Given the description of an element on the screen output the (x, y) to click on. 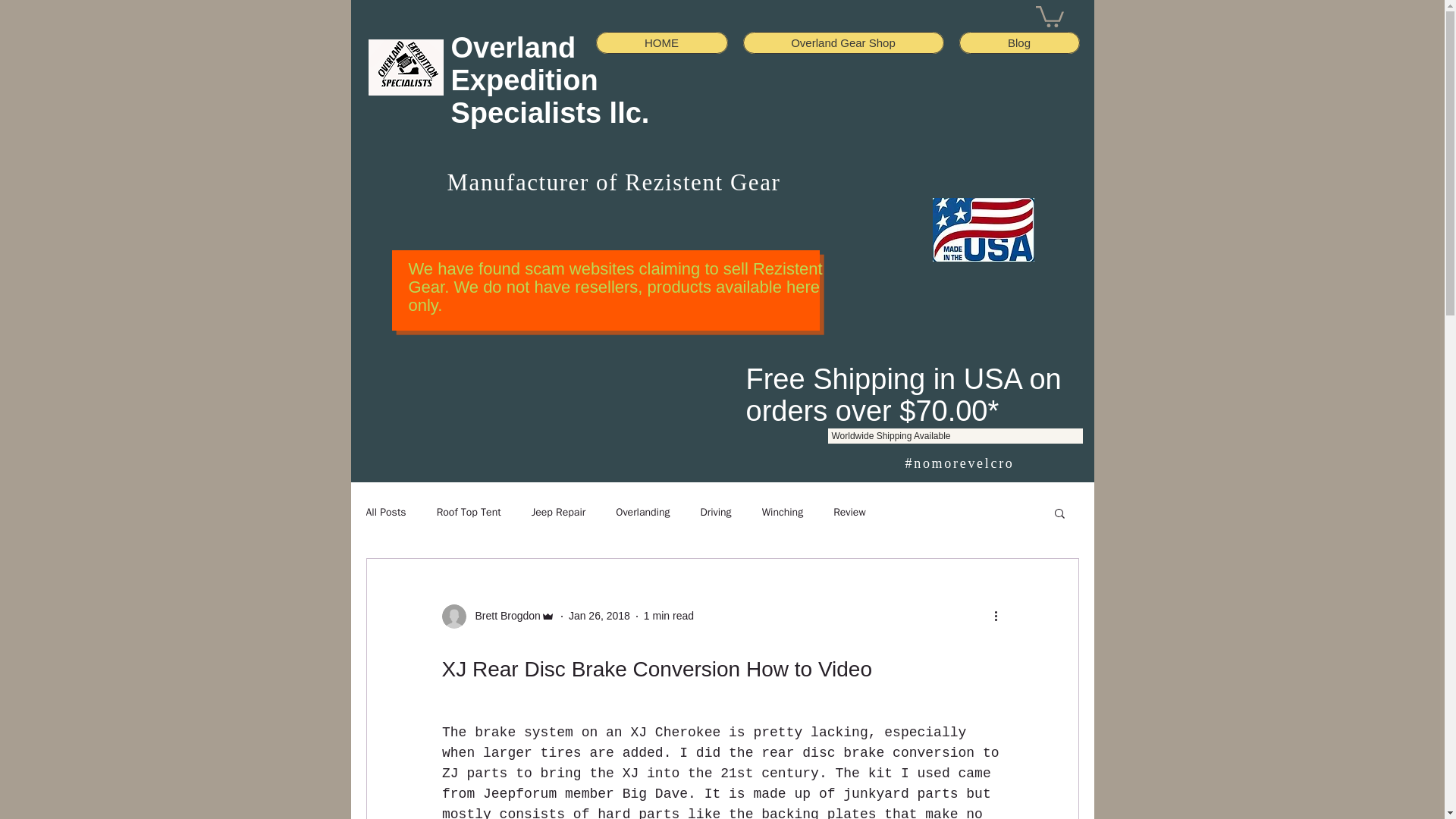
All Posts (385, 512)
Review (849, 512)
Overlanding (642, 512)
1 min read (668, 615)
Brett Brogdon (502, 616)
Overland Gear Shop (842, 42)
HOME (661, 42)
Jeep Repair (558, 512)
Blog (1018, 42)
Roof Top Tent (468, 512)
